Given the description of an element on the screen output the (x, y) to click on. 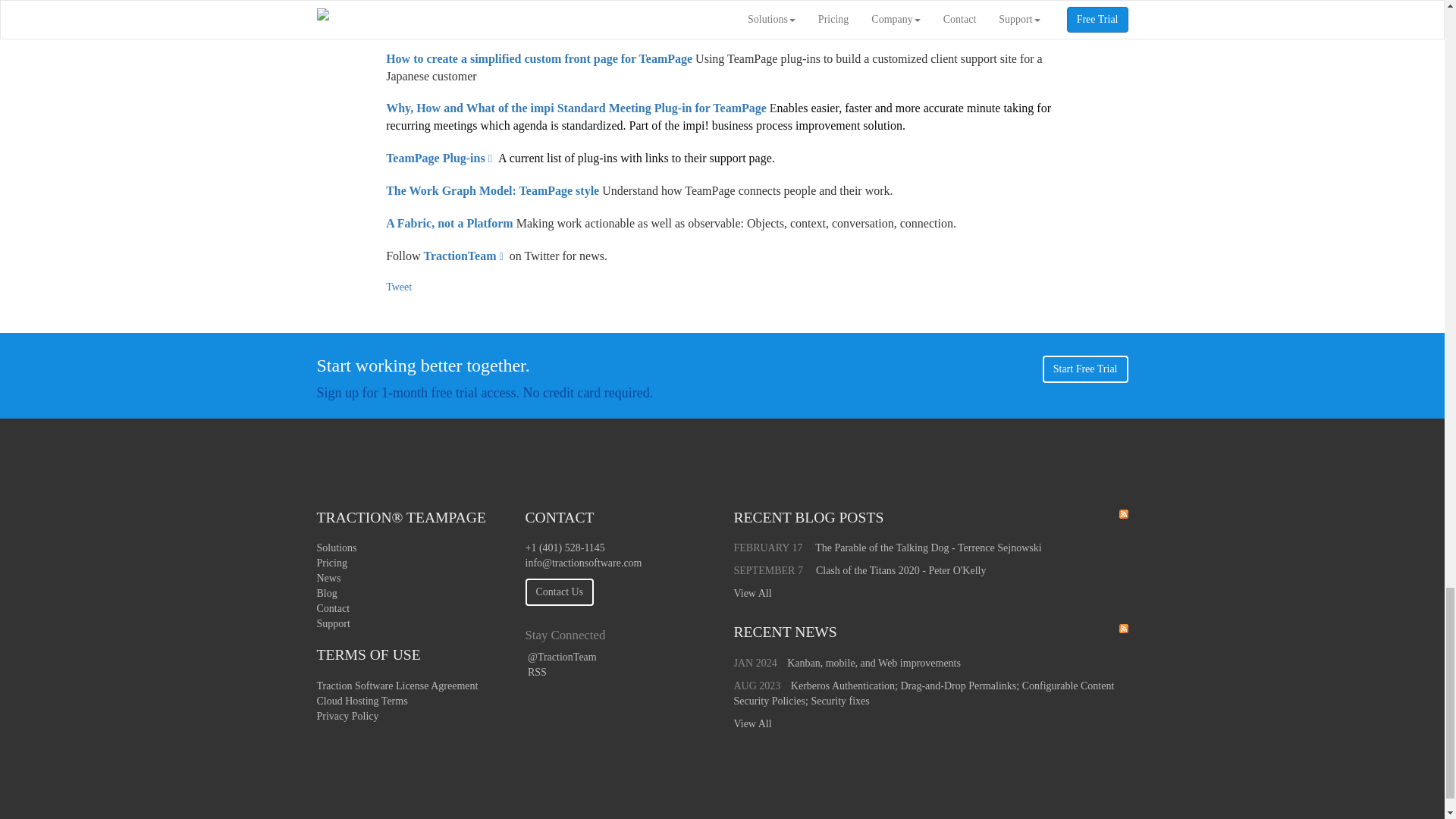
News RSS Feed (1123, 628)
The official Twitter account of Traction Software, Inc. (559, 656)
Blog RSS Feed (1123, 513)
